Given the description of an element on the screen output the (x, y) to click on. 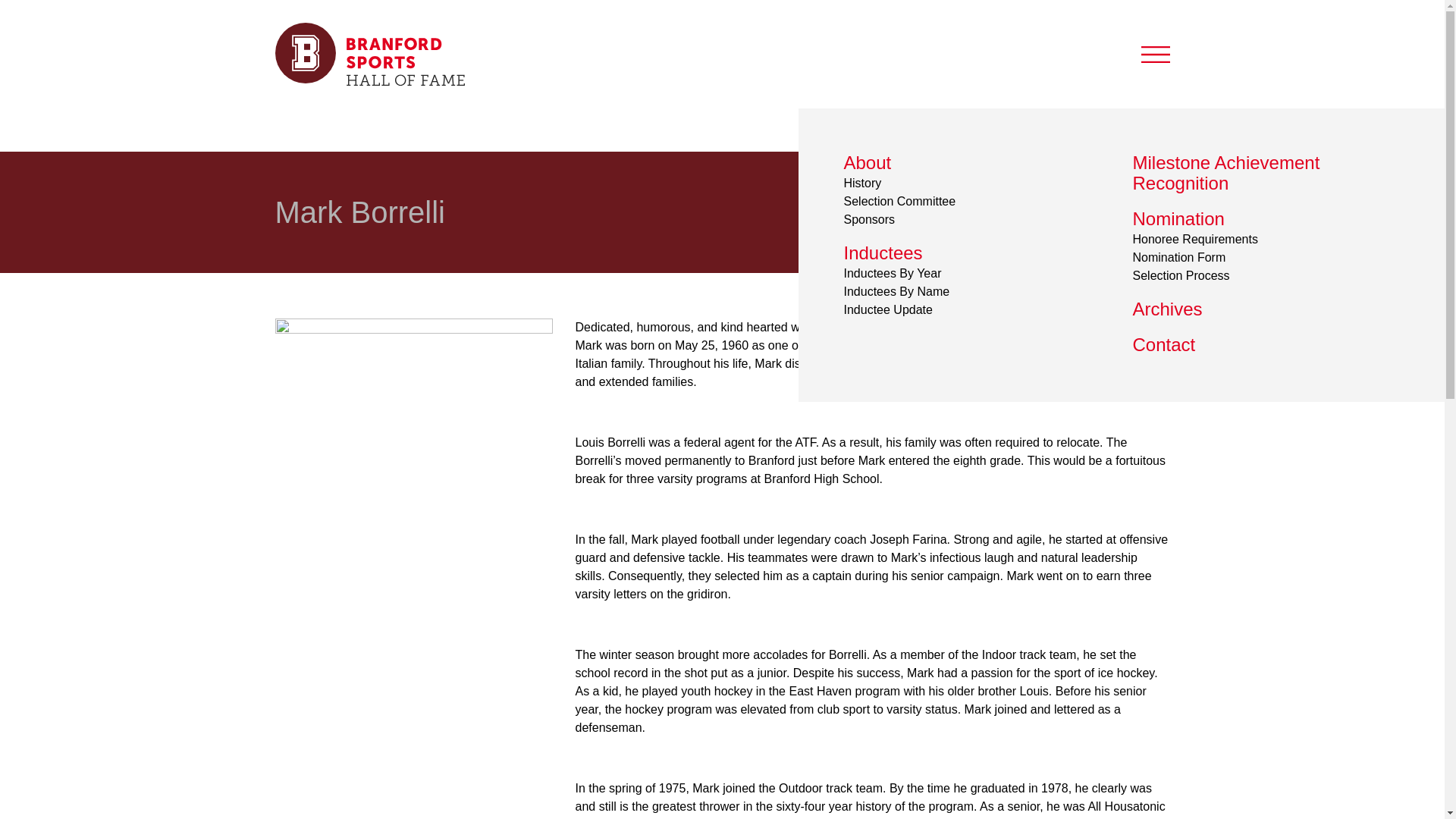
About (867, 162)
Milestone Achievement Recognition (1226, 172)
Inductee Update (887, 309)
Selection Committee (899, 201)
Selection Process (1181, 275)
Nomination (1178, 218)
History (861, 182)
Sponsors (869, 219)
Inductees (882, 252)
Contact (1163, 344)
Search (1085, 122)
Nomination Form (1178, 256)
Inductees By Year (891, 273)
Inductees By Name (896, 291)
Honoree Requirements (1194, 238)
